Given the description of an element on the screen output the (x, y) to click on. 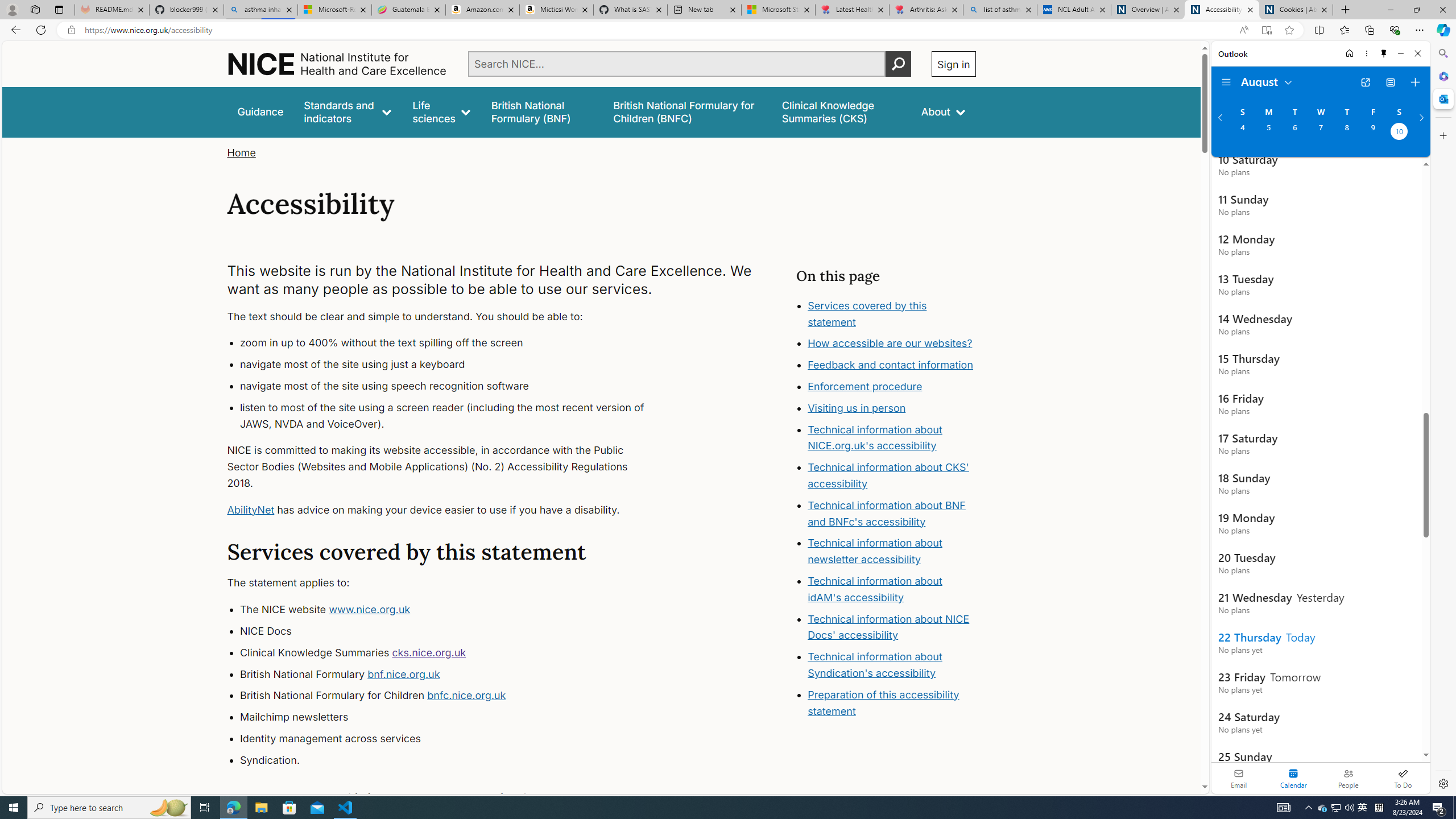
Technical information about NICE.org.uk's accessibility (875, 437)
Technical information about NICE Docs' accessibility (888, 626)
navigate most of the site using speech recognition software (452, 385)
British National Formulary bnf.nice.org.uk (452, 674)
View Switcher. Current view is Agenda view (1390, 82)
To Do (1402, 777)
The NICE website www.nice.org.uk (452, 609)
